Given the description of an element on the screen output the (x, y) to click on. 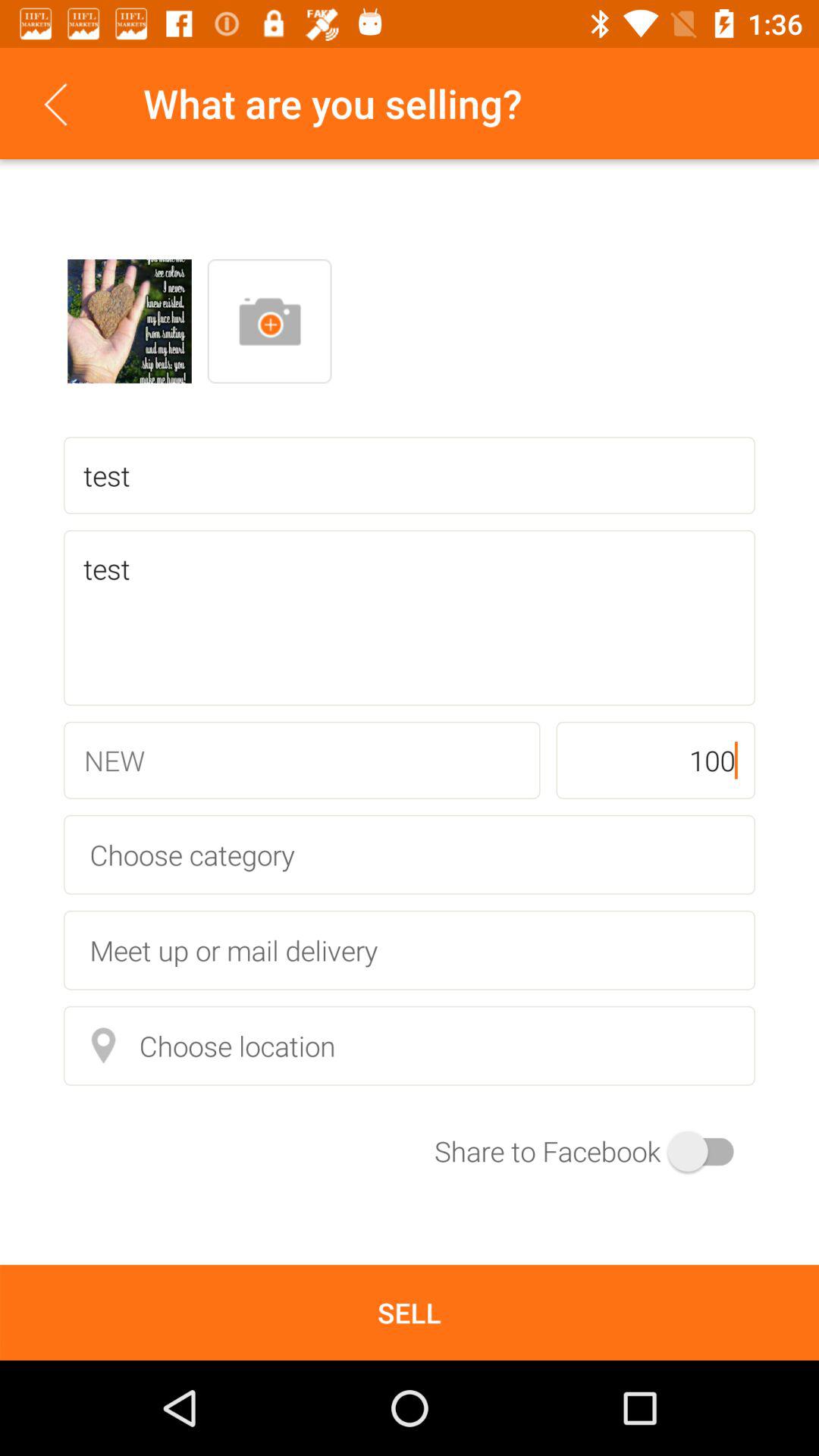
add image button (269, 320)
